Given the description of an element on the screen output the (x, y) to click on. 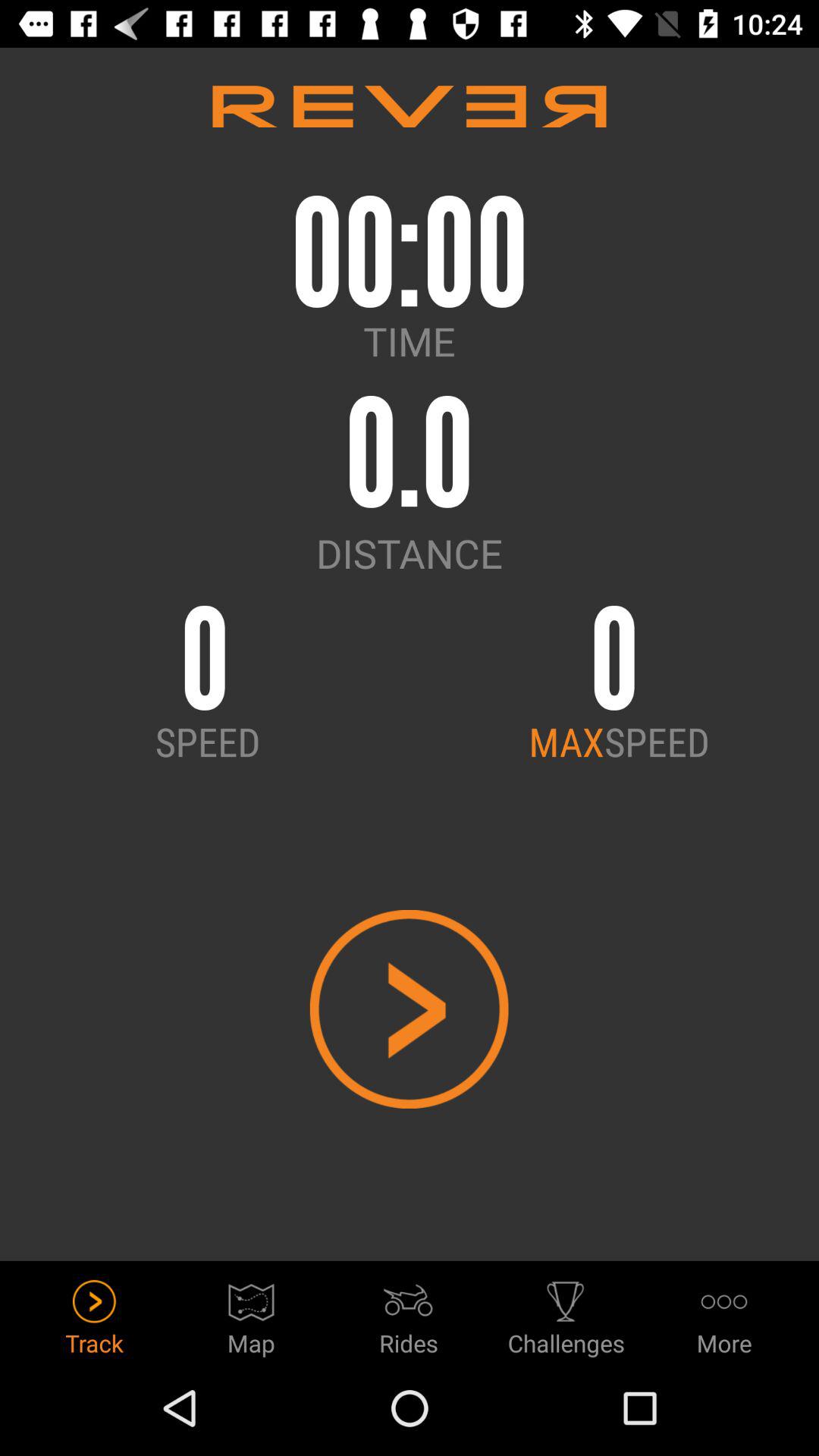
start tracking counter (408, 1008)
